Given the description of an element on the screen output the (x, y) to click on. 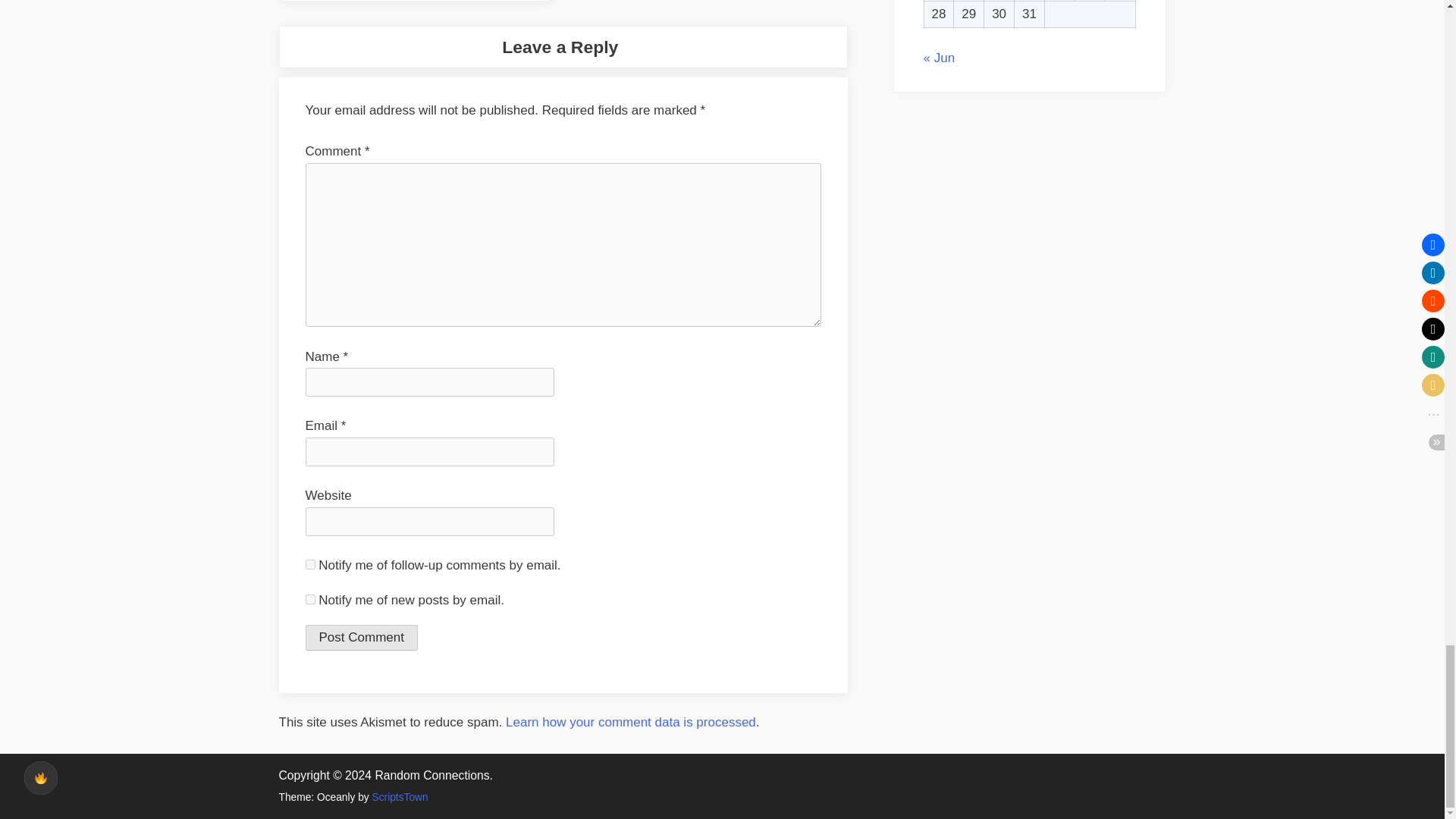
Post Comment (360, 637)
Post Comment (360, 637)
subscribe (309, 564)
Learn how your comment data is processed (630, 721)
subscribe (309, 599)
